Given the description of an element on the screen output the (x, y) to click on. 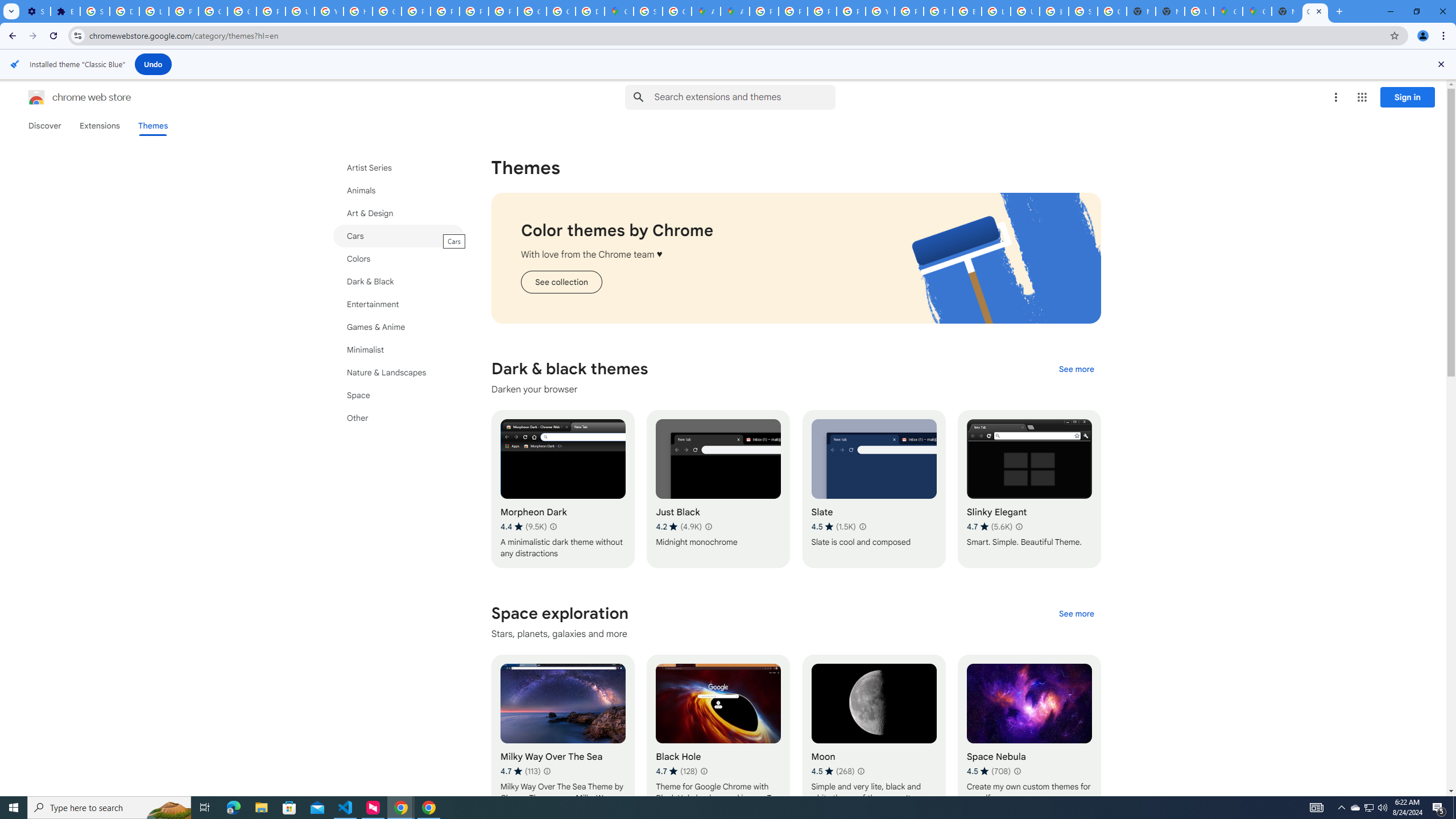
Average rating 4.7 out of 5 stars. 5.6K ratings. (988, 526)
Discover (43, 125)
Average rating 4.5 out of 5 stars. 1.5K ratings. (833, 526)
